Given the description of an element on the screen output the (x, y) to click on. 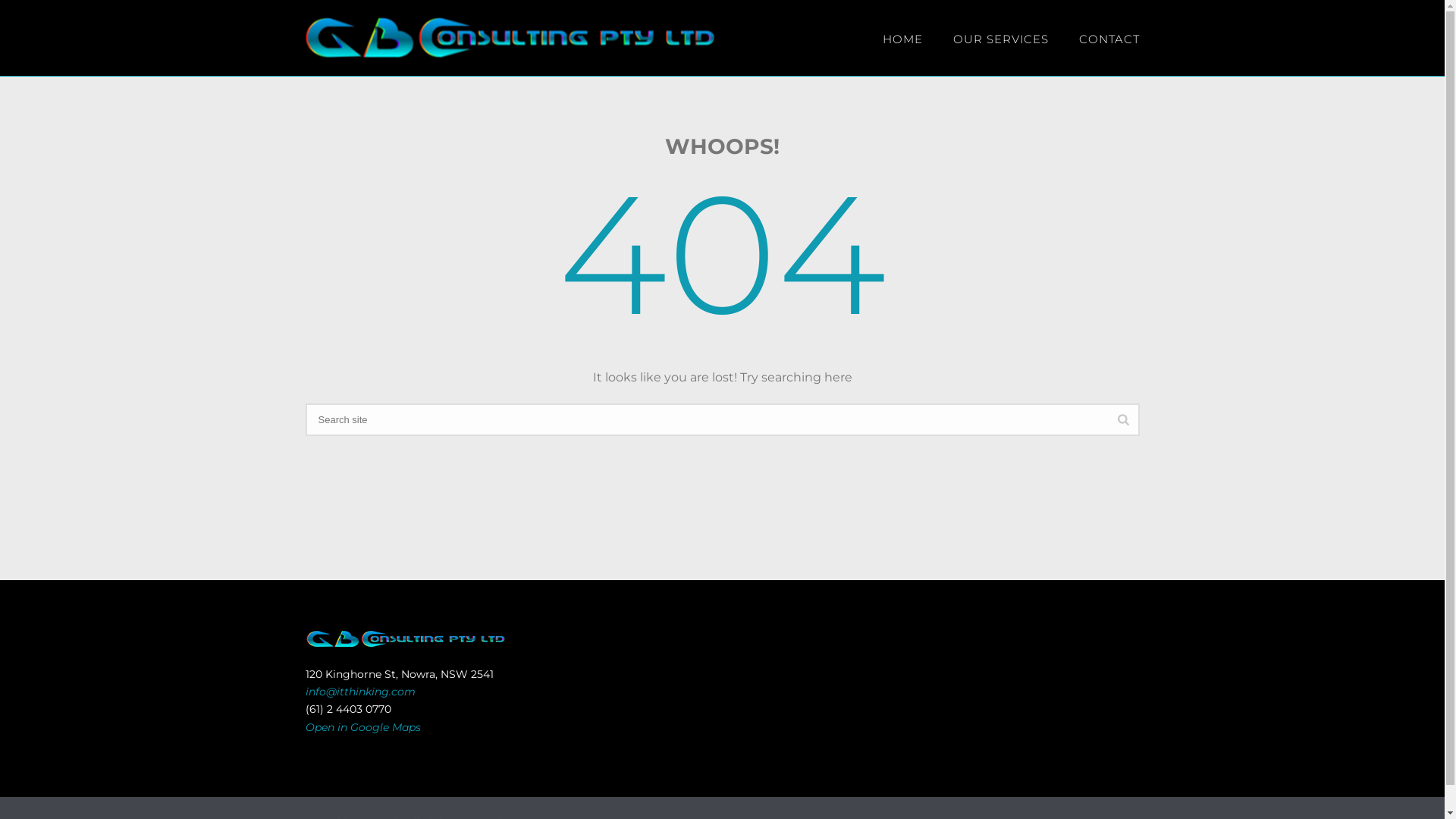
Open in Google Maps Element type: text (362, 727)
CONTACT Element type: text (1108, 37)
OUR SERVICES Element type: text (1000, 37)
info@itthinking.com Element type: text (359, 691)
HOME Element type: text (902, 37)
